Given the description of an element on the screen output the (x, y) to click on. 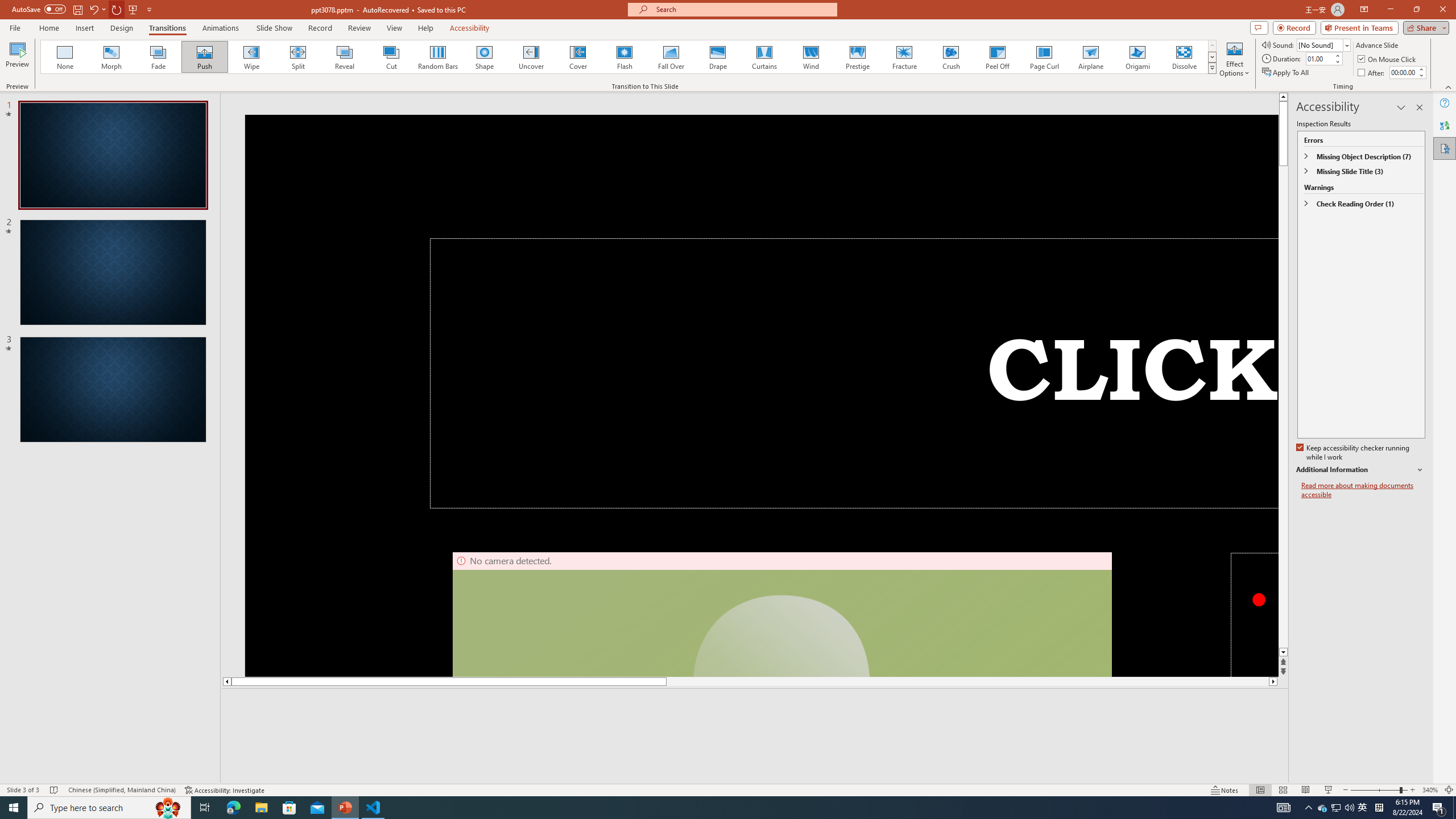
Crush (950, 56)
Dissolve (1183, 56)
